Given the description of an element on the screen output the (x, y) to click on. 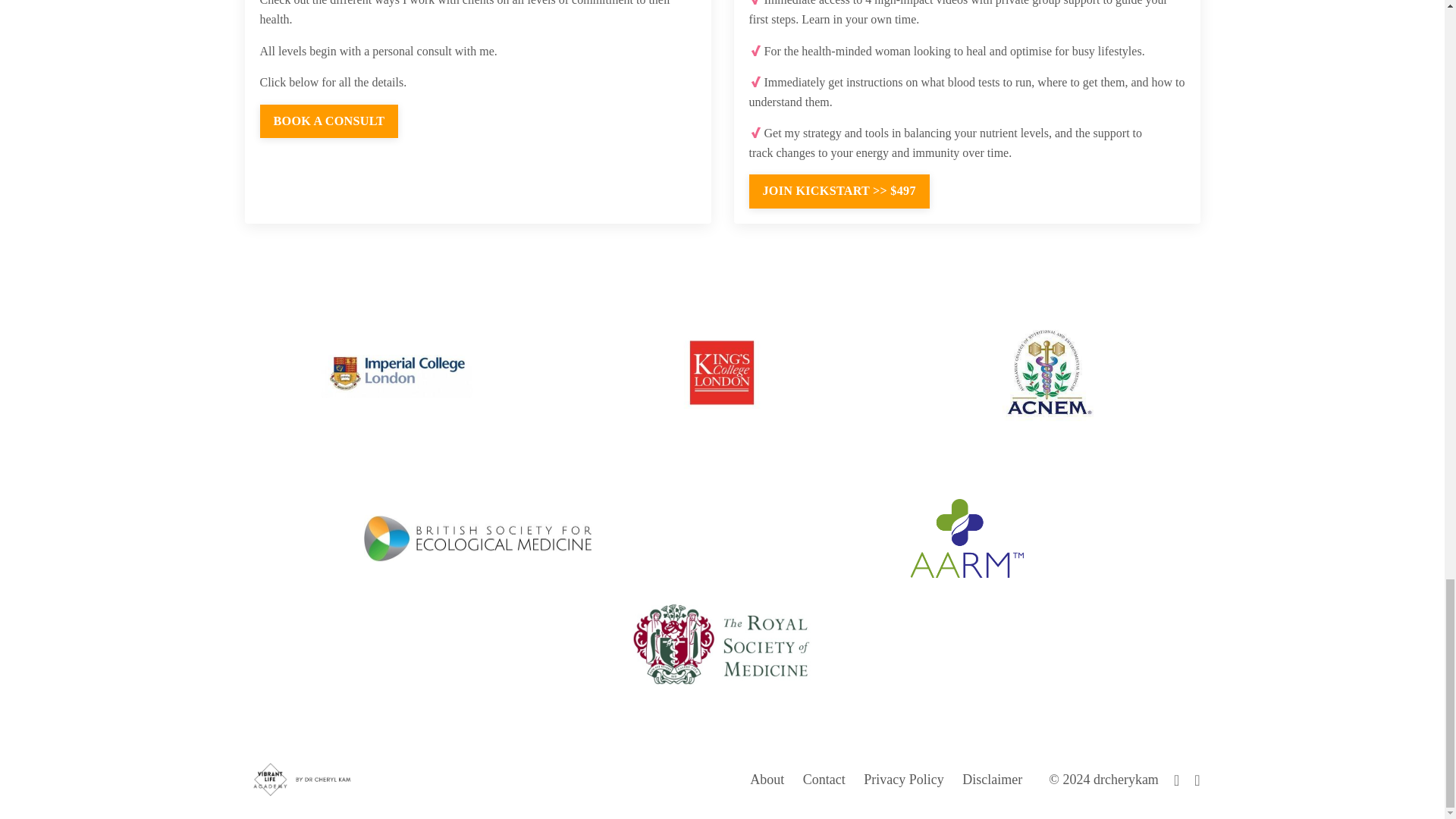
Contact (824, 779)
Privacy Policy (903, 779)
BOOK A CONSULT (328, 121)
Disclaimer (992, 779)
About (766, 779)
